Given the description of an element on the screen output the (x, y) to click on. 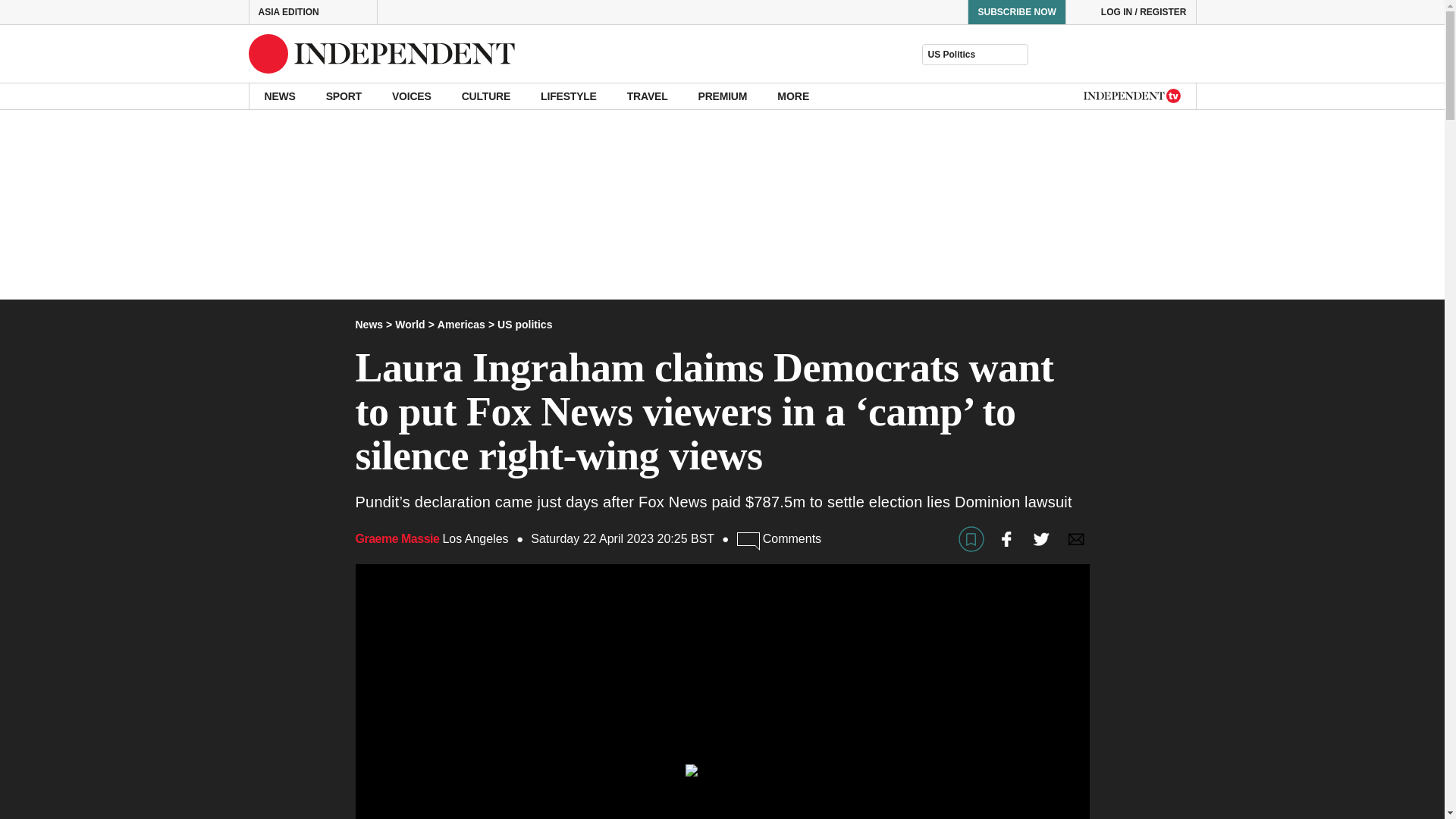
SUBSCRIBE NOW (1016, 12)
VOICES (411, 95)
NEWS (279, 95)
Independent (381, 53)
SPORT (344, 95)
US Politics (974, 54)
